Given the description of an element on the screen output the (x, y) to click on. 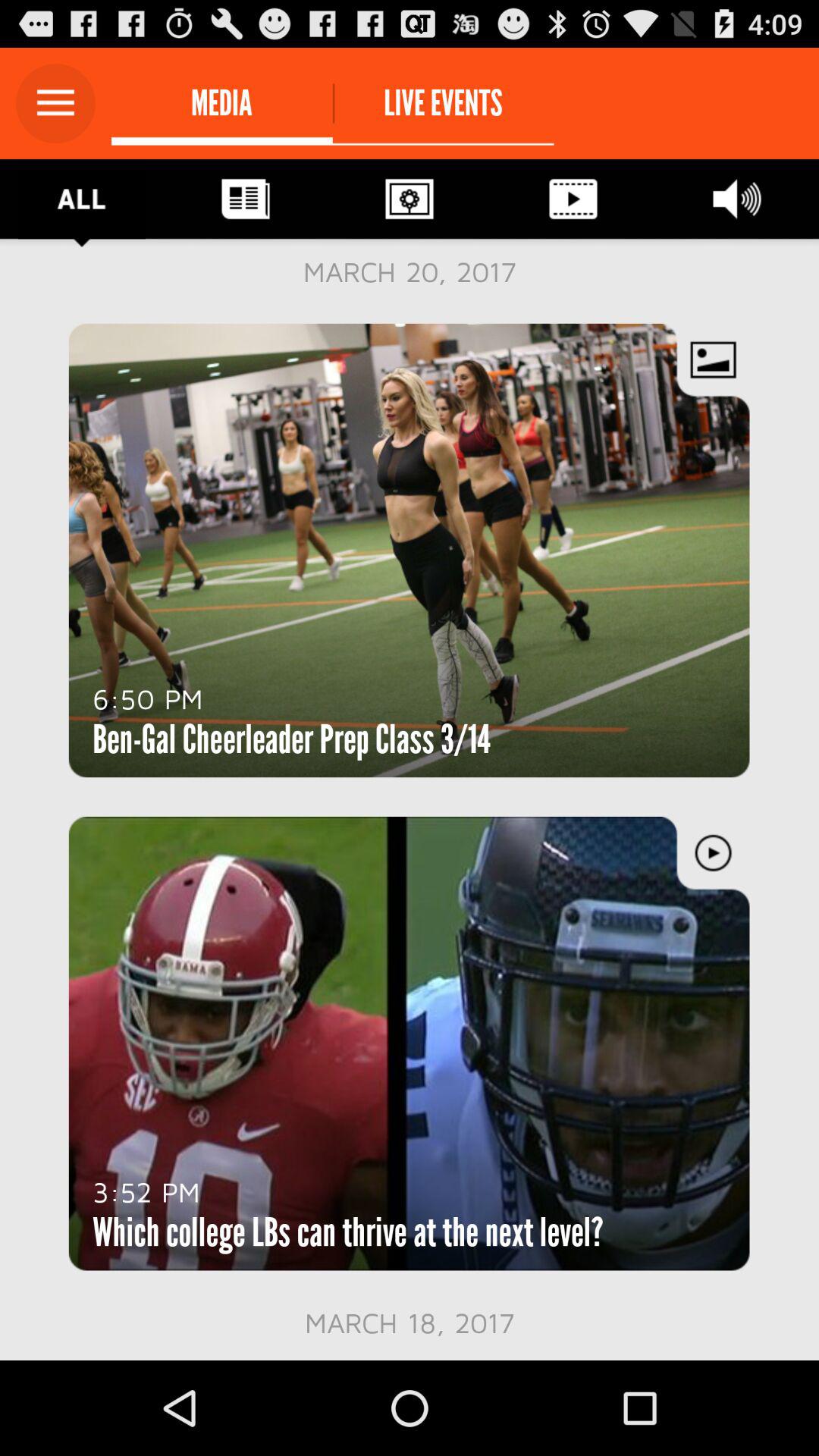
click item above the ben gal cheerleader icon (147, 698)
